Given the description of an element on the screen output the (x, y) to click on. 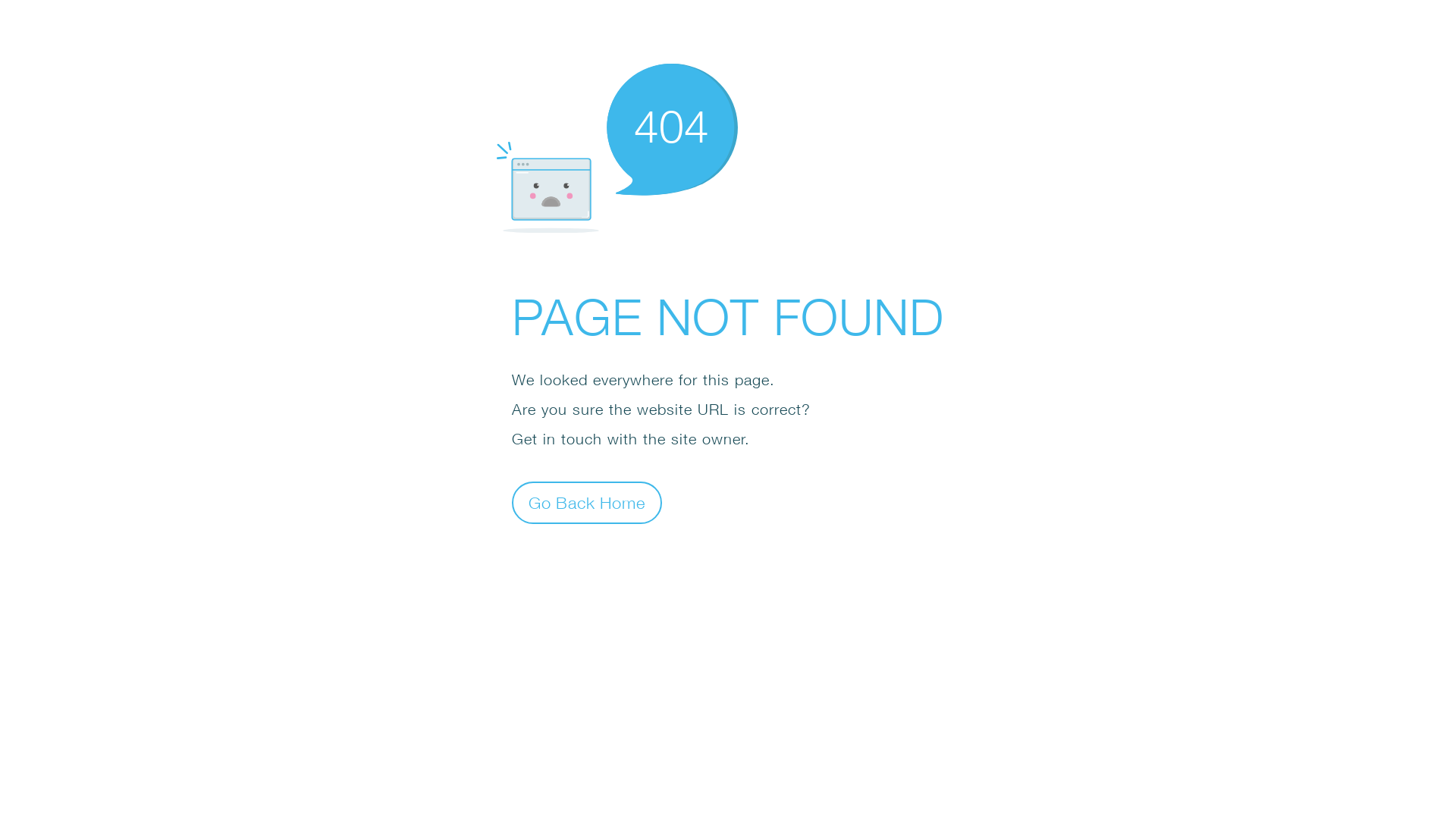
Go Back Home Element type: text (586, 502)
